Given the description of an element on the screen output the (x, y) to click on. 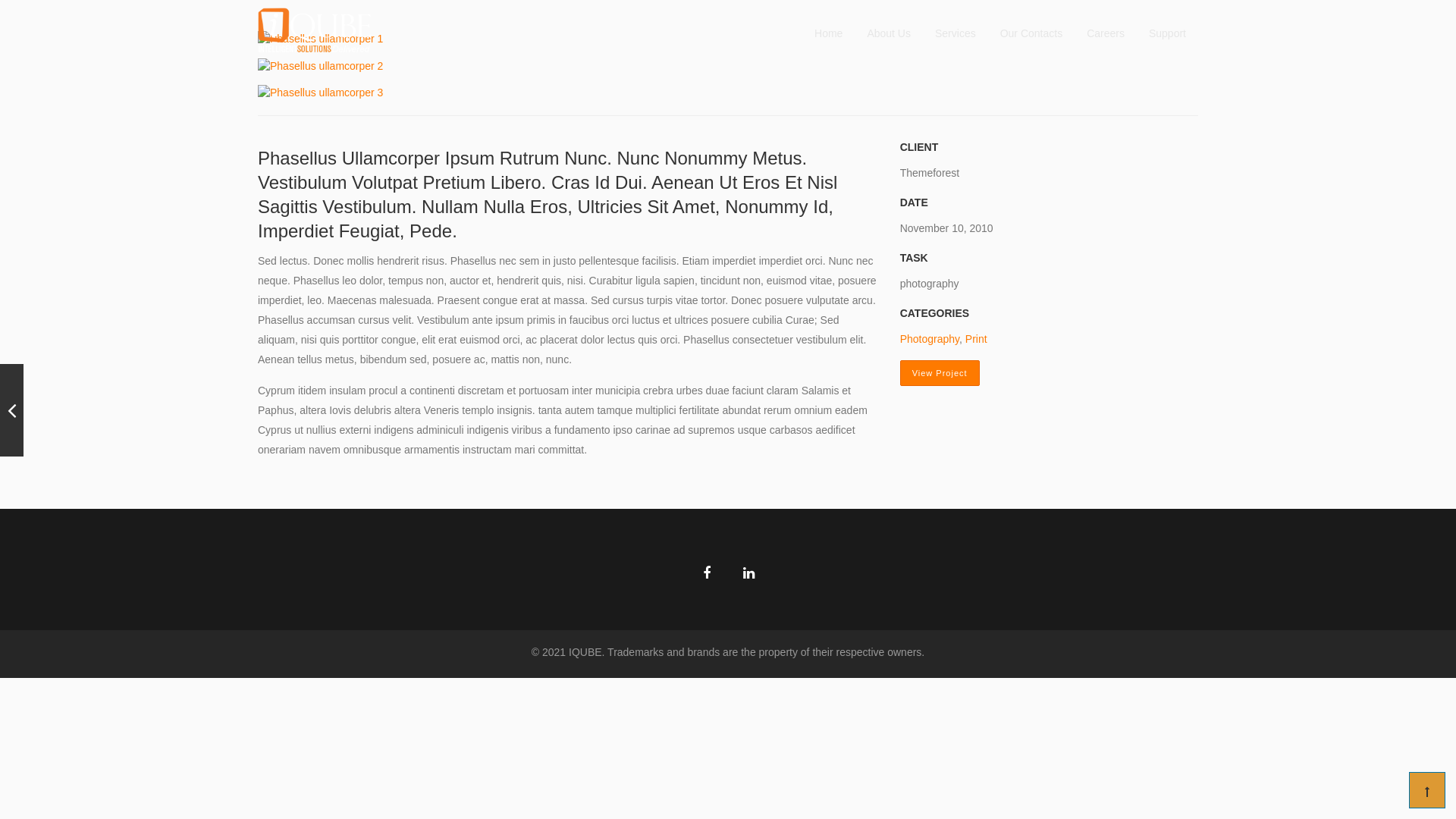
Careers Element type: text (1105, 32)
About Us Element type: text (888, 32)
Our Contacts Element type: text (1031, 32)
Photography Element type: text (929, 338)
Support Element type: text (1167, 32)
Home Element type: text (828, 32)
Print Element type: text (976, 338)
IMPERDIET VARIUS LAOREET Element type: text (11, 410)
View Project Element type: text (939, 373)
Services Element type: text (955, 32)
